Given the description of an element on the screen output the (x, y) to click on. 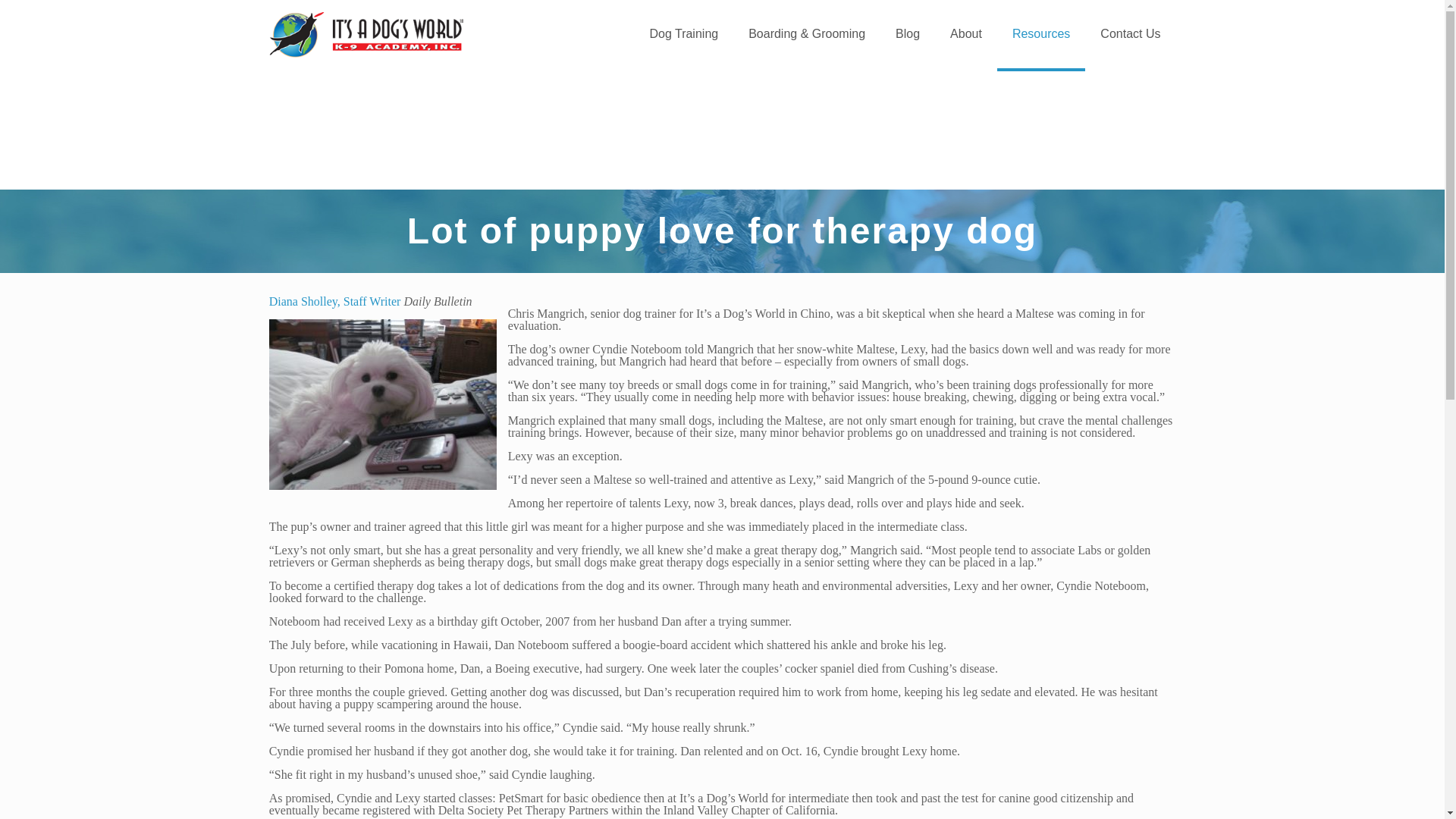
Dog Training (683, 33)
Its A Dogs World (365, 33)
About (965, 33)
